Given the description of an element on the screen output the (x, y) to click on. 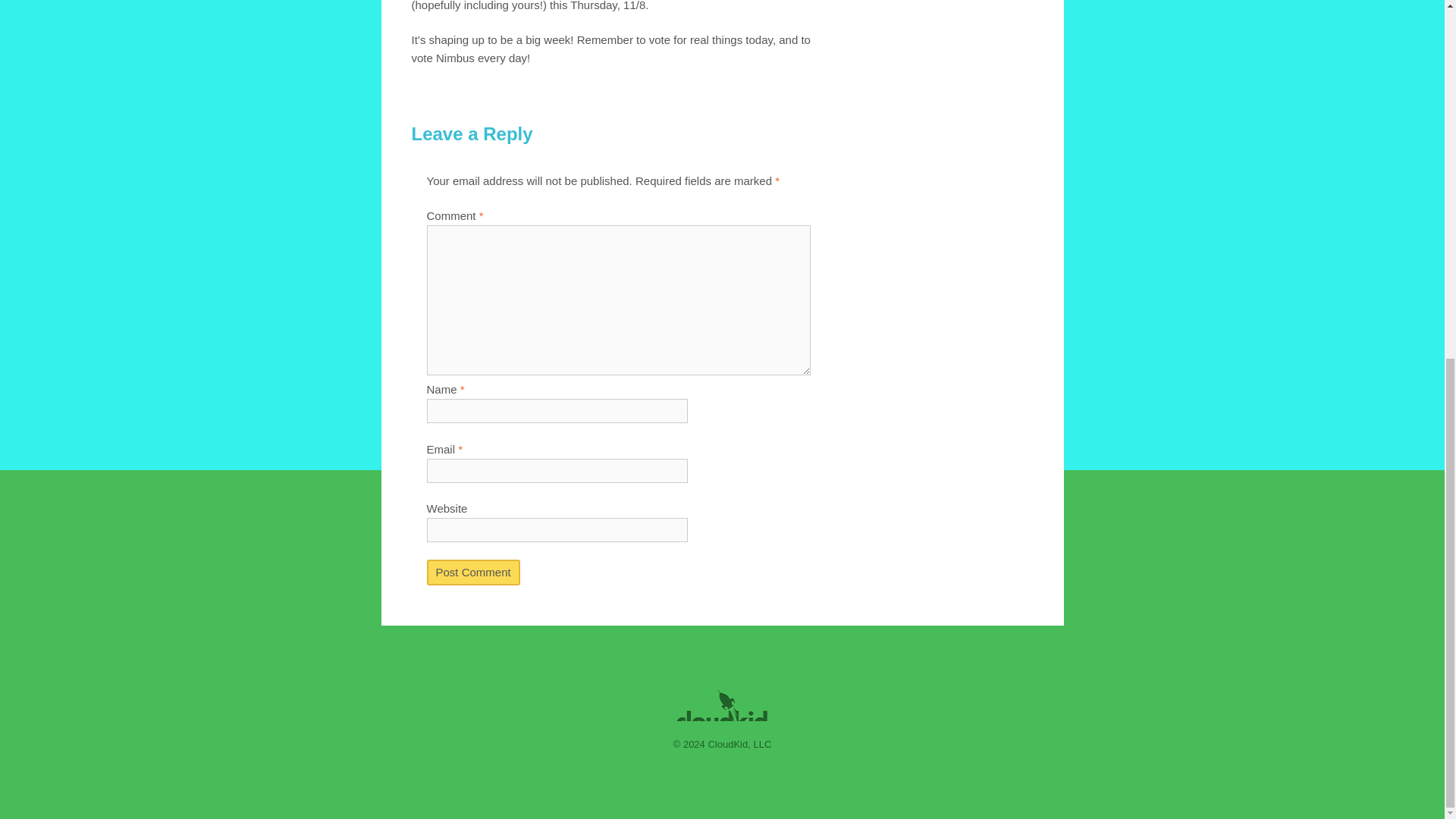
Press Kit (901, 623)
Get Negative Nimbus for iOS or Android (612, 623)
Get Negative Nimbus for iOS or Android (612, 623)
Post Comment (472, 572)
Post Comment (472, 572)
Facebook (820, 623)
Contact (758, 623)
